Given the description of an element on the screen output the (x, y) to click on. 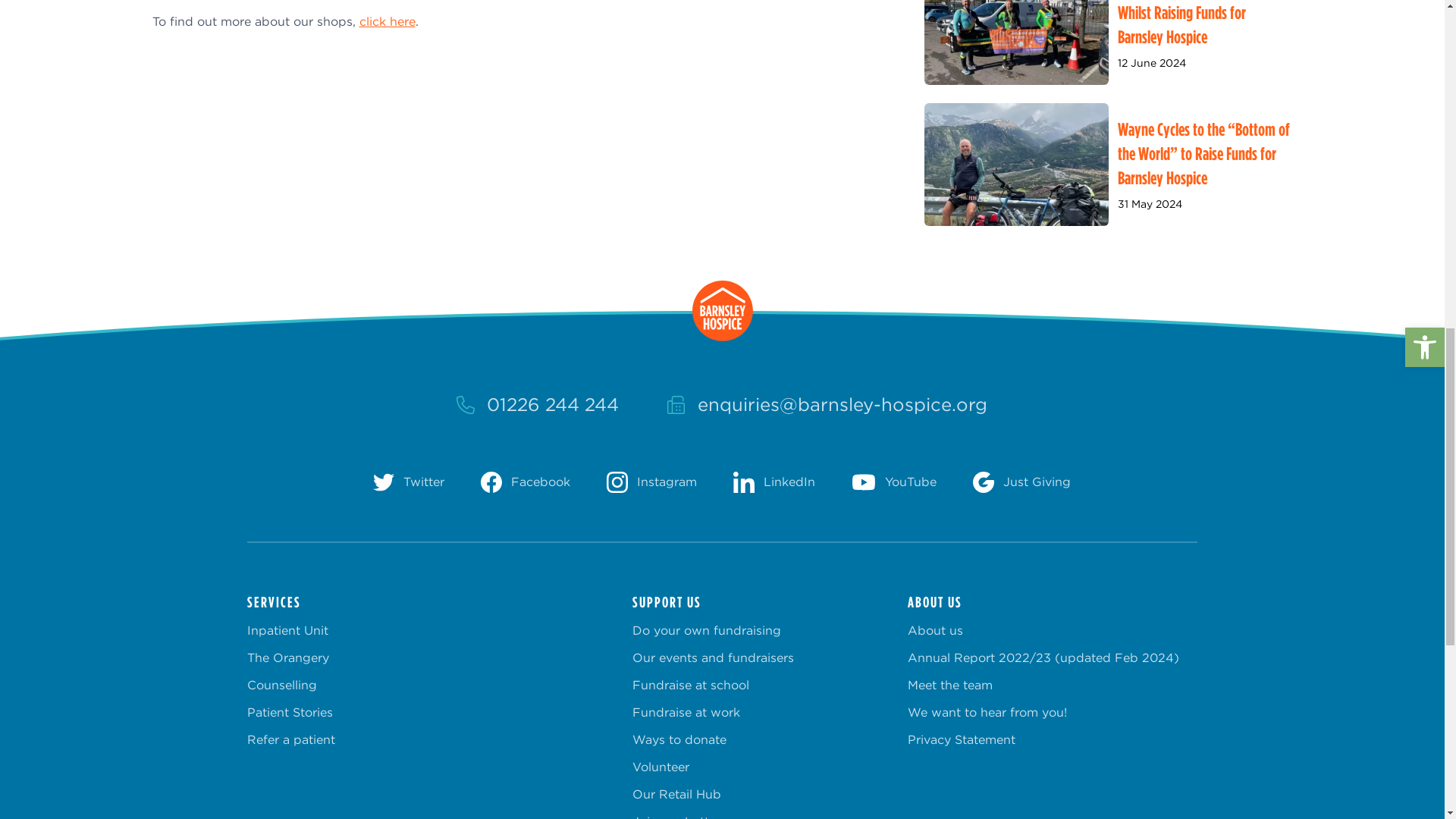
YouTube (893, 482)
Twitter (408, 482)
Just Giving (1021, 482)
LinkedIn (774, 482)
Back to top (721, 310)
Instagram (652, 482)
Facebook (525, 482)
